Given the description of an element on the screen output the (x, y) to click on. 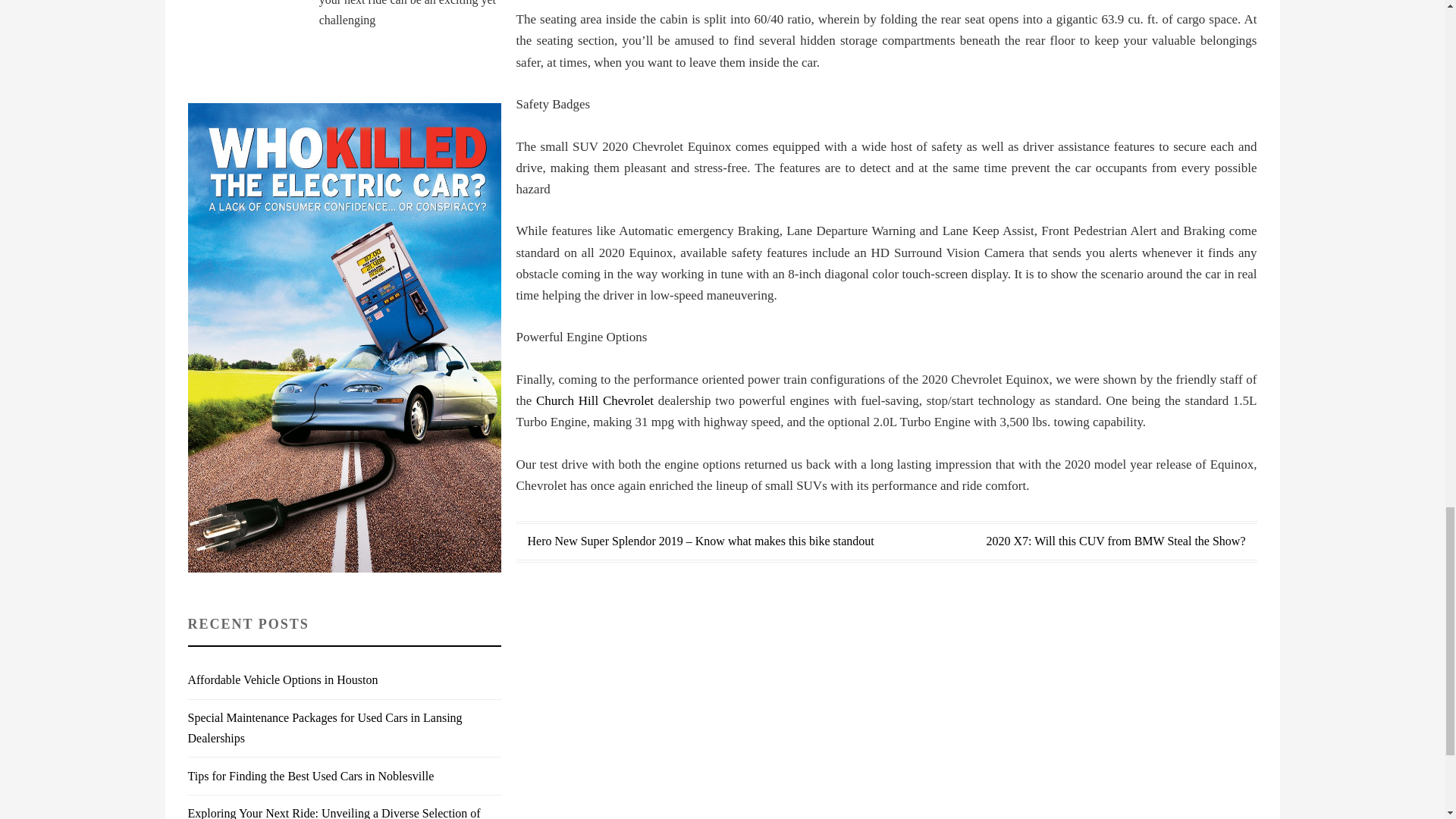
2020 X7: Will this CUV from BMW Steal the Show? (1114, 540)
Church Hill Chevrolet (594, 400)
